Given the description of an element on the screen output the (x, y) to click on. 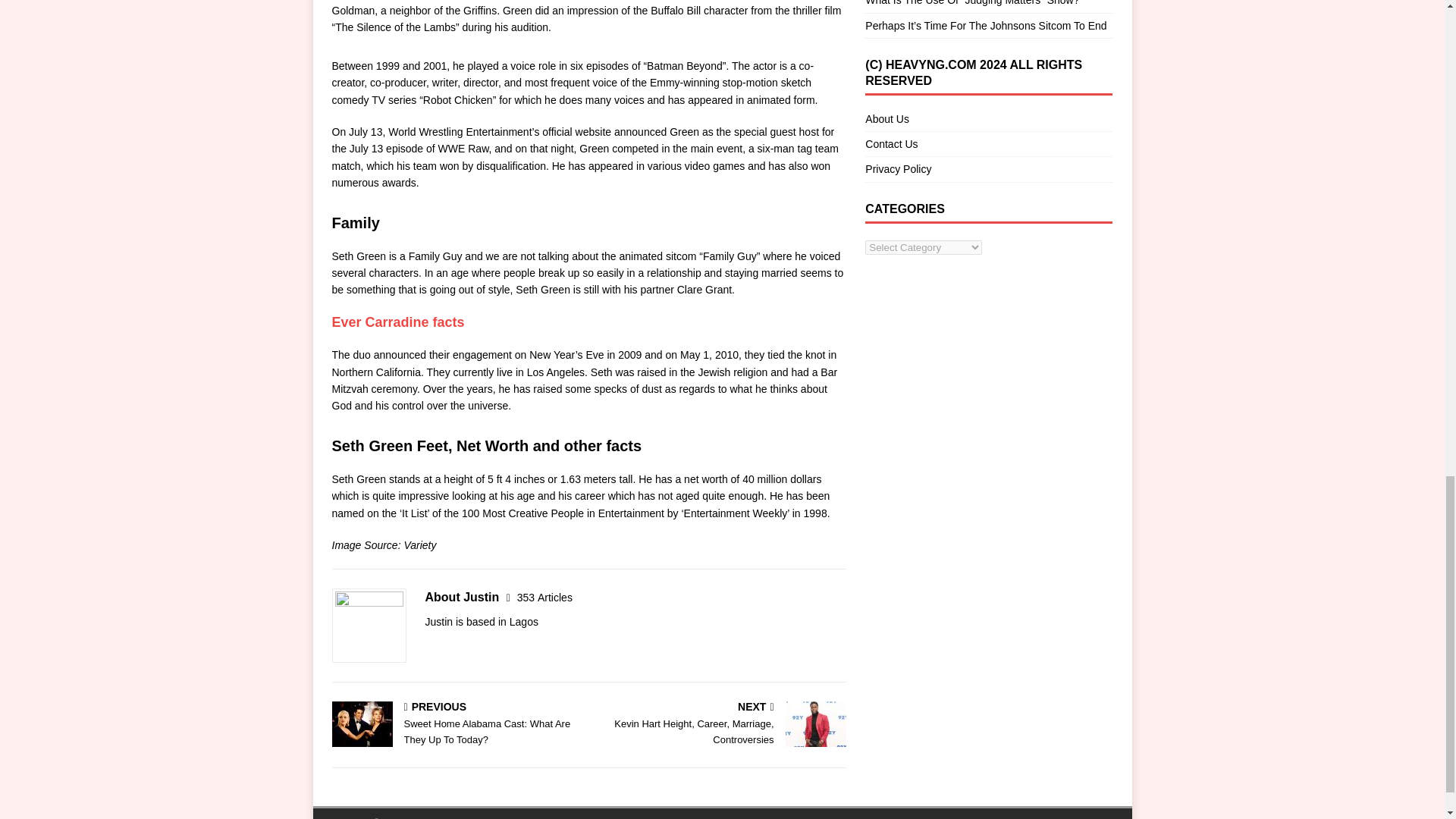
More articles written by Justin' (544, 597)
